Given the description of an element on the screen output the (x, y) to click on. 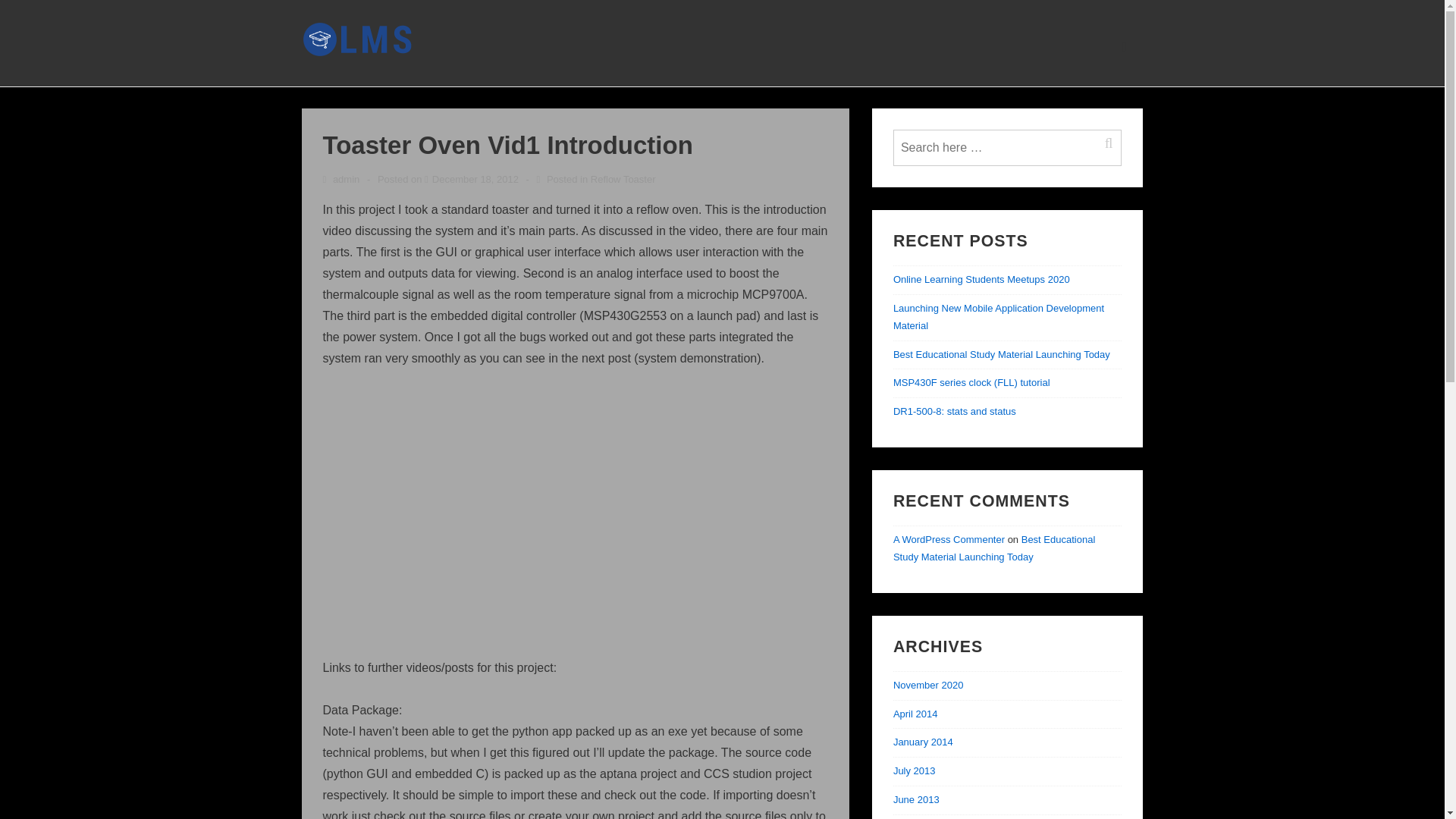
December 18, 2012 (475, 179)
Toaster Oven Vid1 Introduction (475, 179)
admin (342, 179)
July 2013 (914, 770)
DR1-500-8: stats and status (954, 410)
A WordPress Commenter (948, 539)
MENU (1123, 46)
November 2020 (928, 685)
January 2014 (923, 741)
Search (1112, 143)
